Given the description of an element on the screen output the (x, y) to click on. 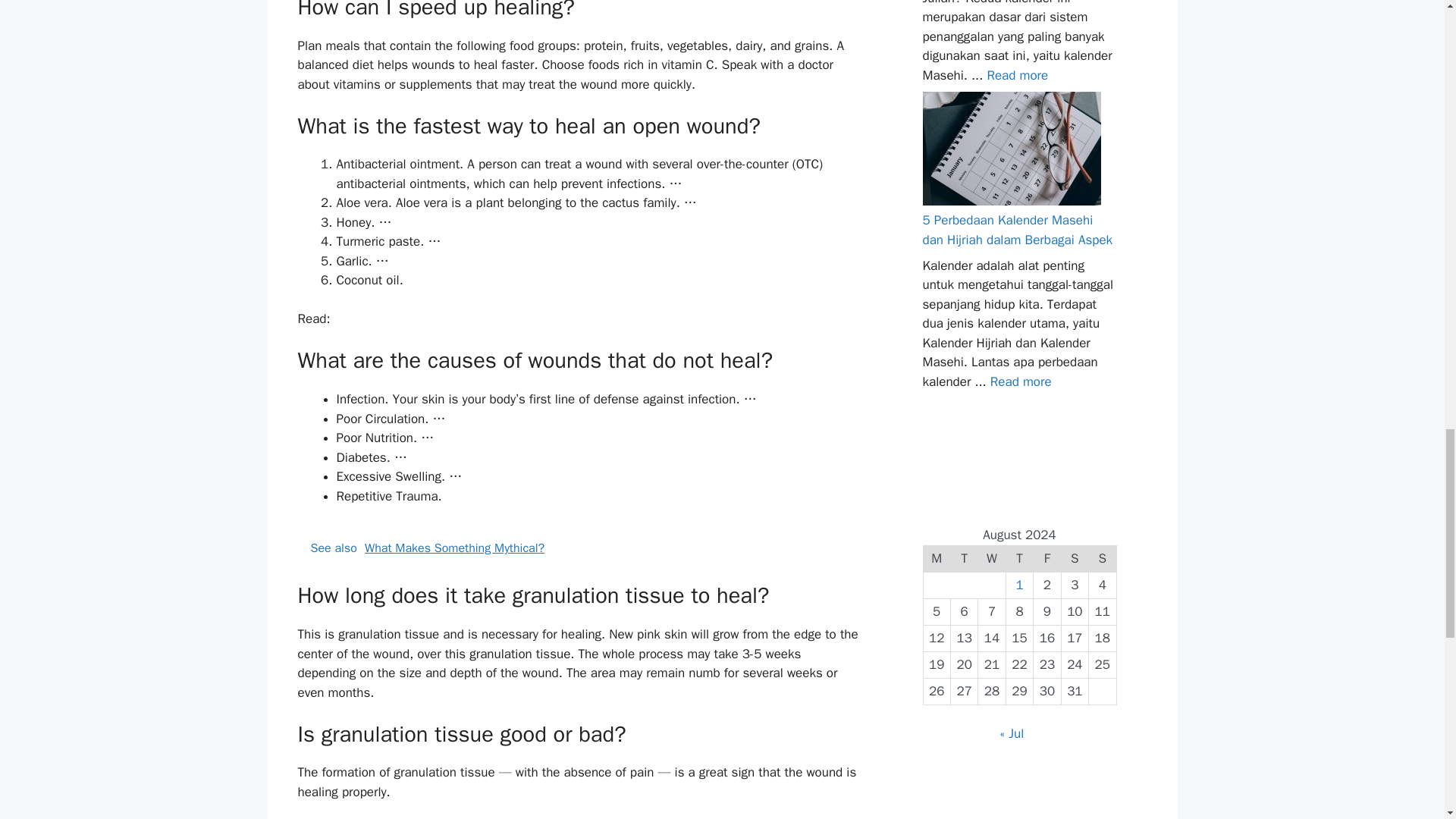
5 Perbedaan Kalender Masehi dan Hijriah dalam Berbagai Aspek (1020, 381)
See also  What Makes Something Mythical? (579, 547)
Monday (936, 558)
